Given the description of an element on the screen output the (x, y) to click on. 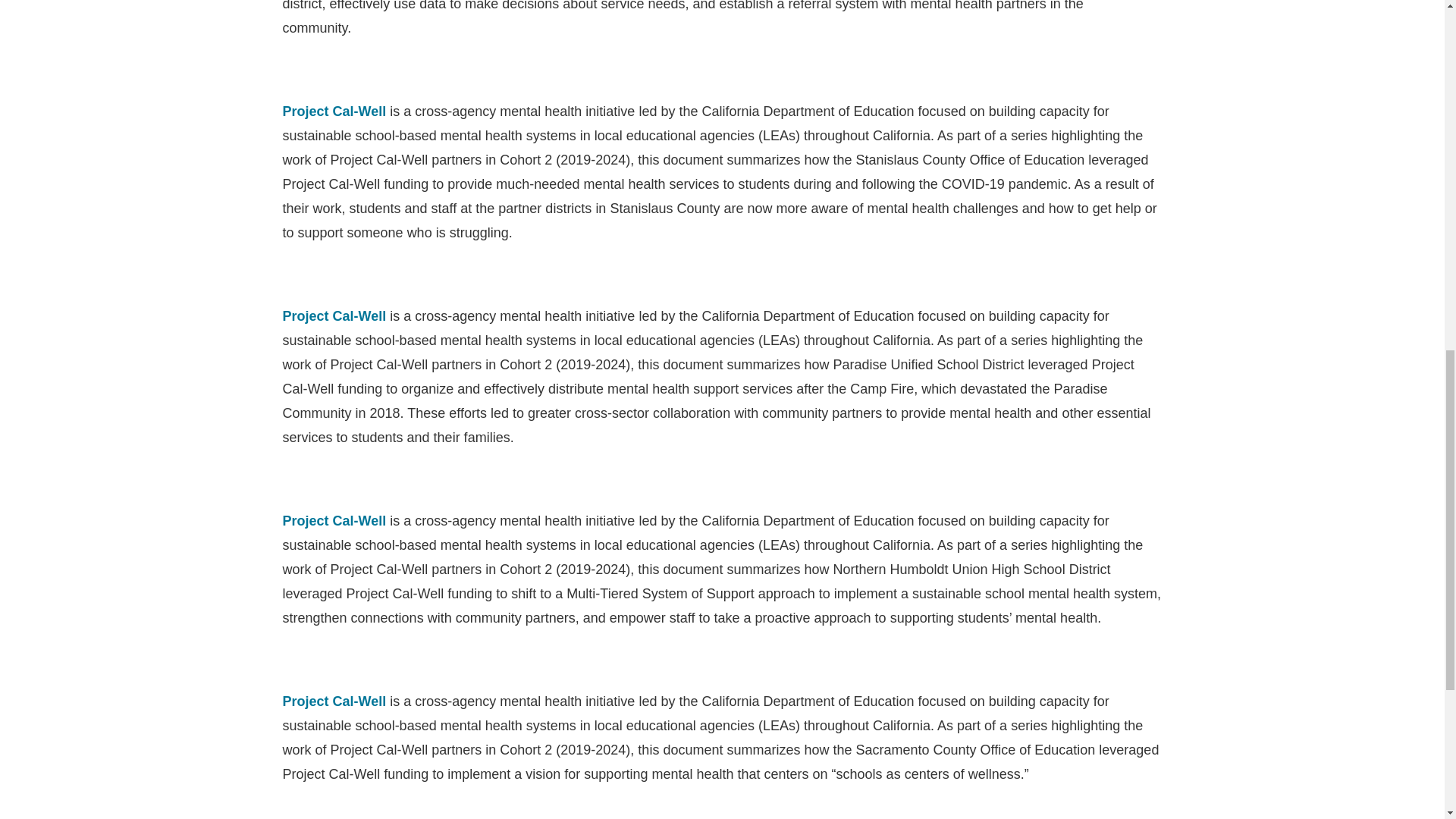
Project Cal-Well (333, 315)
Project Cal-Well (333, 520)
Project Cal-Well (333, 111)
Project Cal-Well (333, 701)
